Given the description of an element on the screen output the (x, y) to click on. 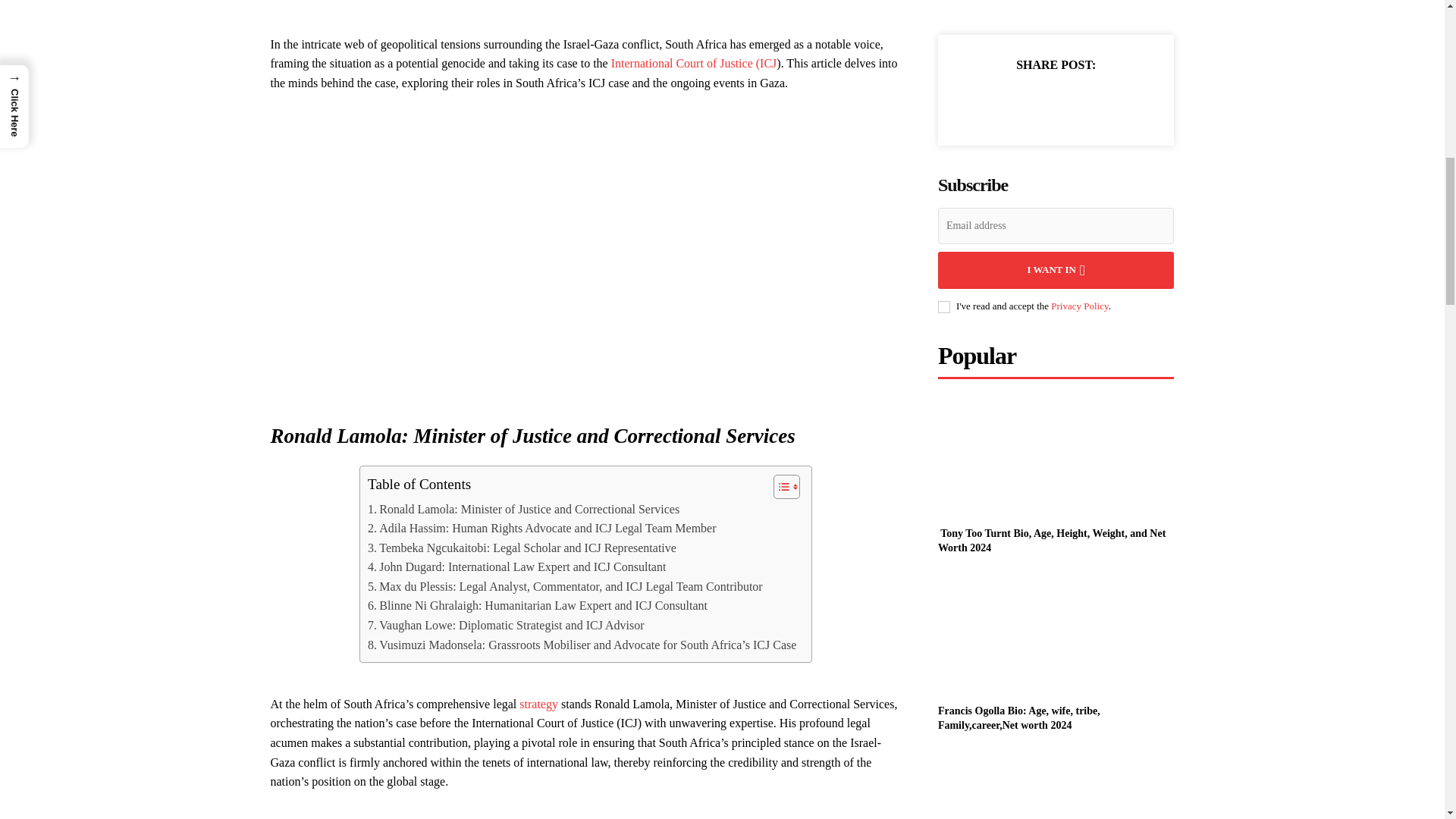
John Dugard: International Law Expert and ICJ Consultant  (516, 567)
Tembeka Ngcukaitobi: Legal Scholar and ICJ Representative  (522, 547)
